Given the description of an element on the screen output the (x, y) to click on. 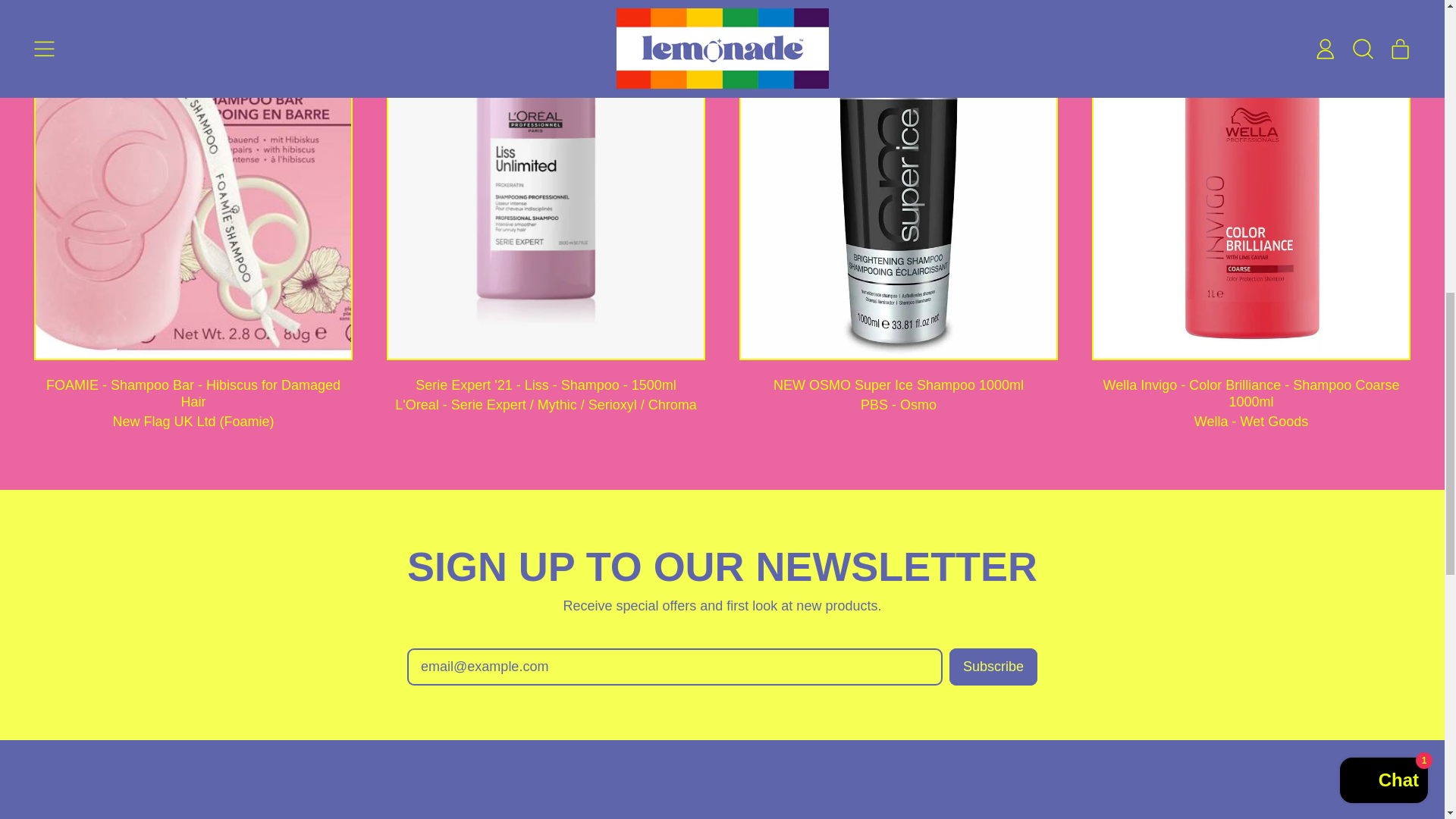
Subscribe (992, 666)
